Given the description of an element on the screen output the (x, y) to click on. 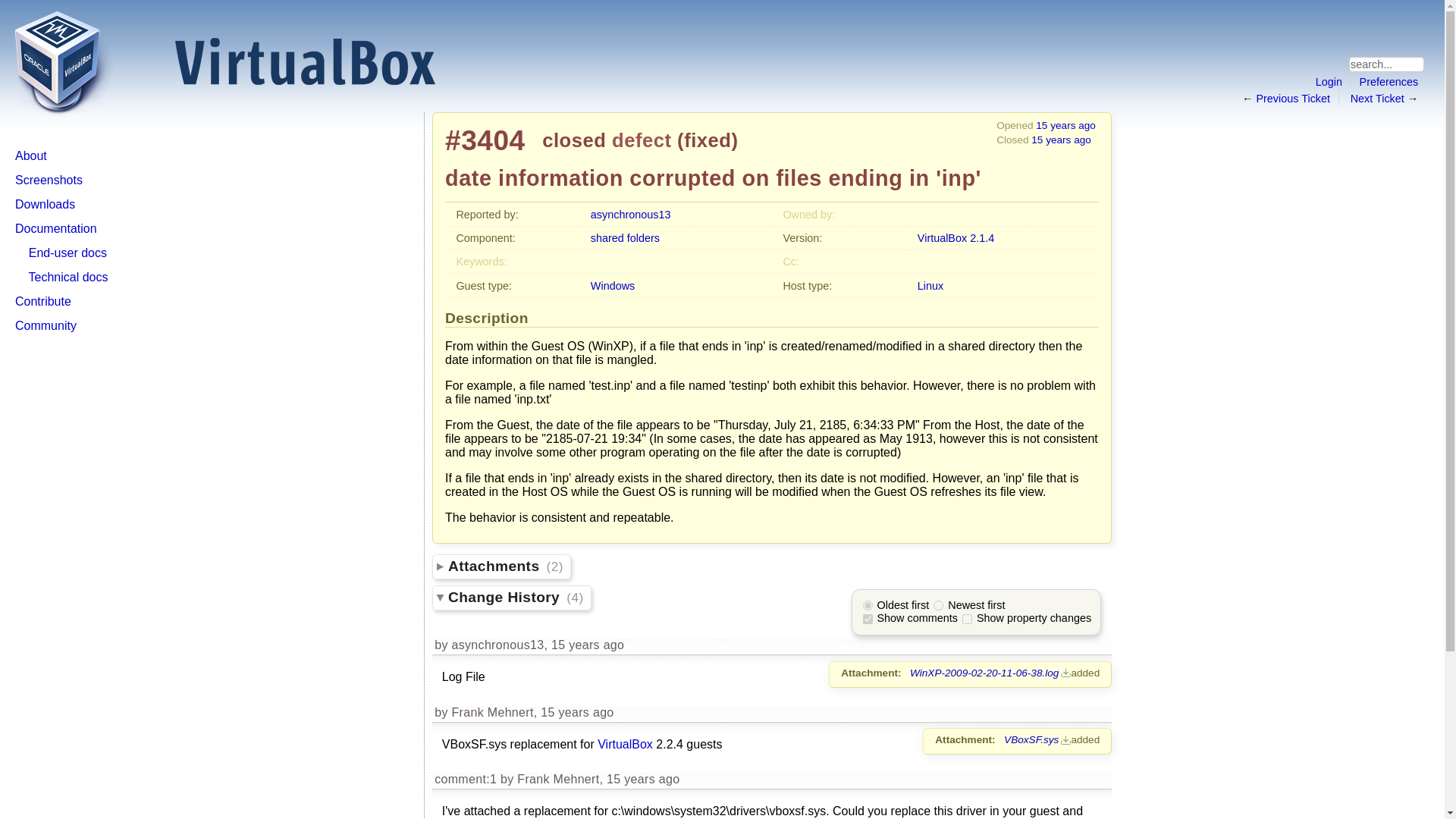
Linux (930, 285)
Preferences (1388, 81)
Login (1329, 81)
Windows (612, 285)
on (867, 619)
Technical docs (68, 277)
Downloads (44, 204)
15 years ago (1065, 125)
closed (573, 139)
Next Ticket (1378, 98)
Community (45, 325)
on (967, 619)
Released Feb 15, 2009 11:00:00 PM (955, 237)
Contribute (42, 300)
defect (641, 139)
